Given the description of an element on the screen output the (x, y) to click on. 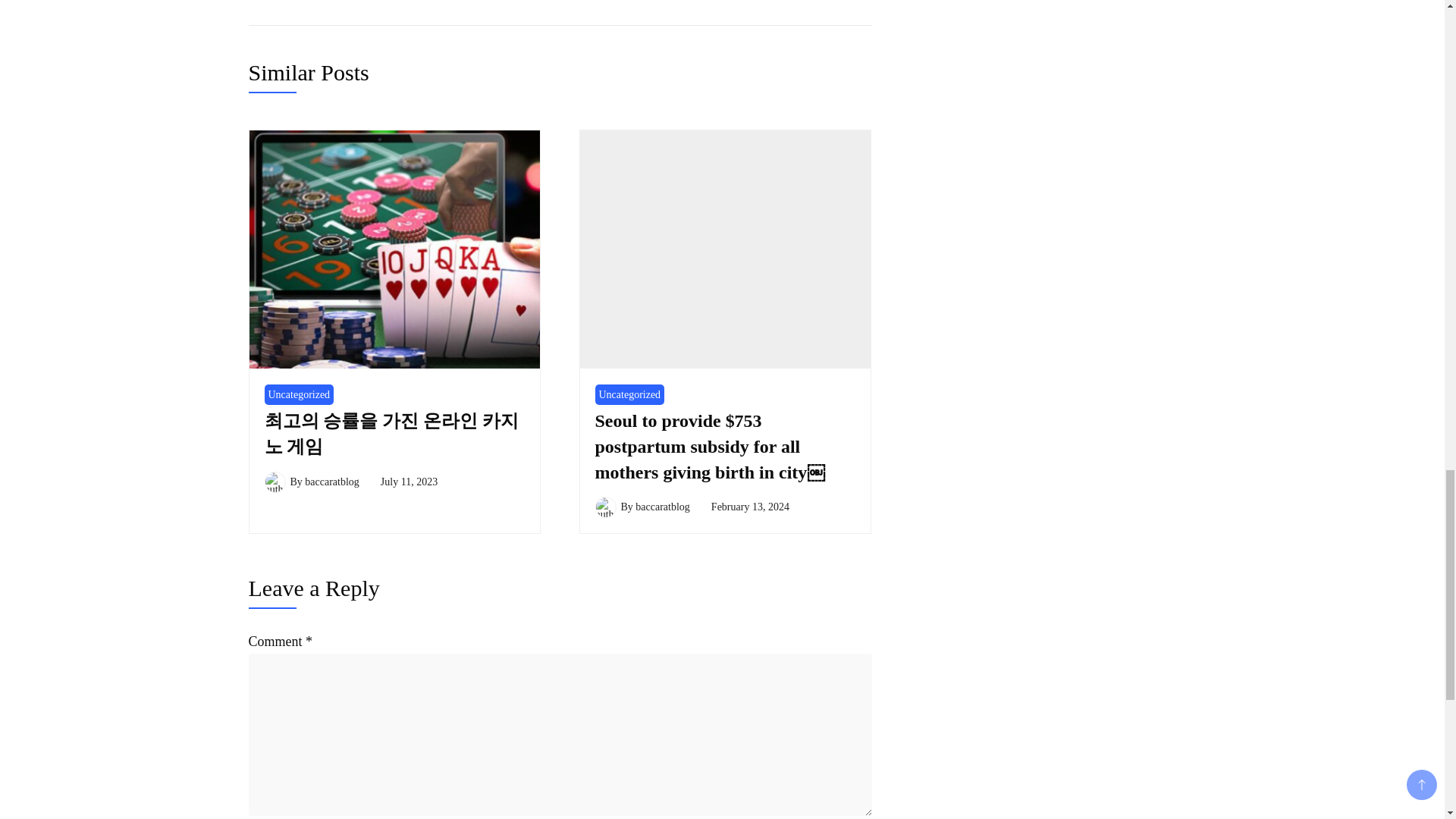
July 11, 2023 (409, 481)
Uncategorized (628, 394)
February 13, 2024 (750, 506)
Uncategorized (298, 394)
baccaratblog (662, 506)
baccaratblog (331, 481)
